Given the description of an element on the screen output the (x, y) to click on. 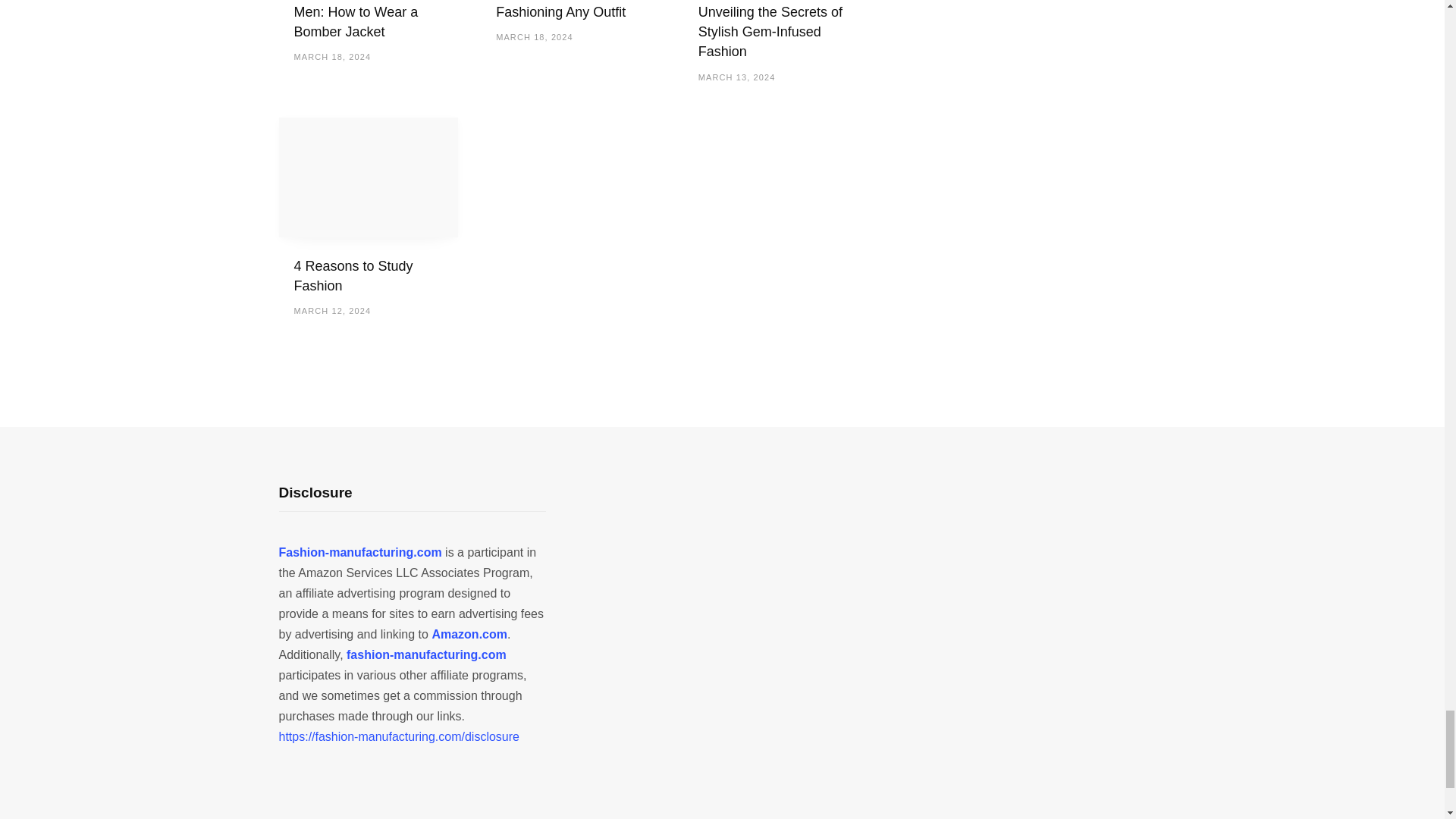
Essential Guide for Men: How to Wear a Bomber Jacket (356, 19)
4 Reasons to Study Fashion (353, 275)
Elevate Your Style: Fashioning Any Outfit (561, 9)
